Given the description of an element on the screen output the (x, y) to click on. 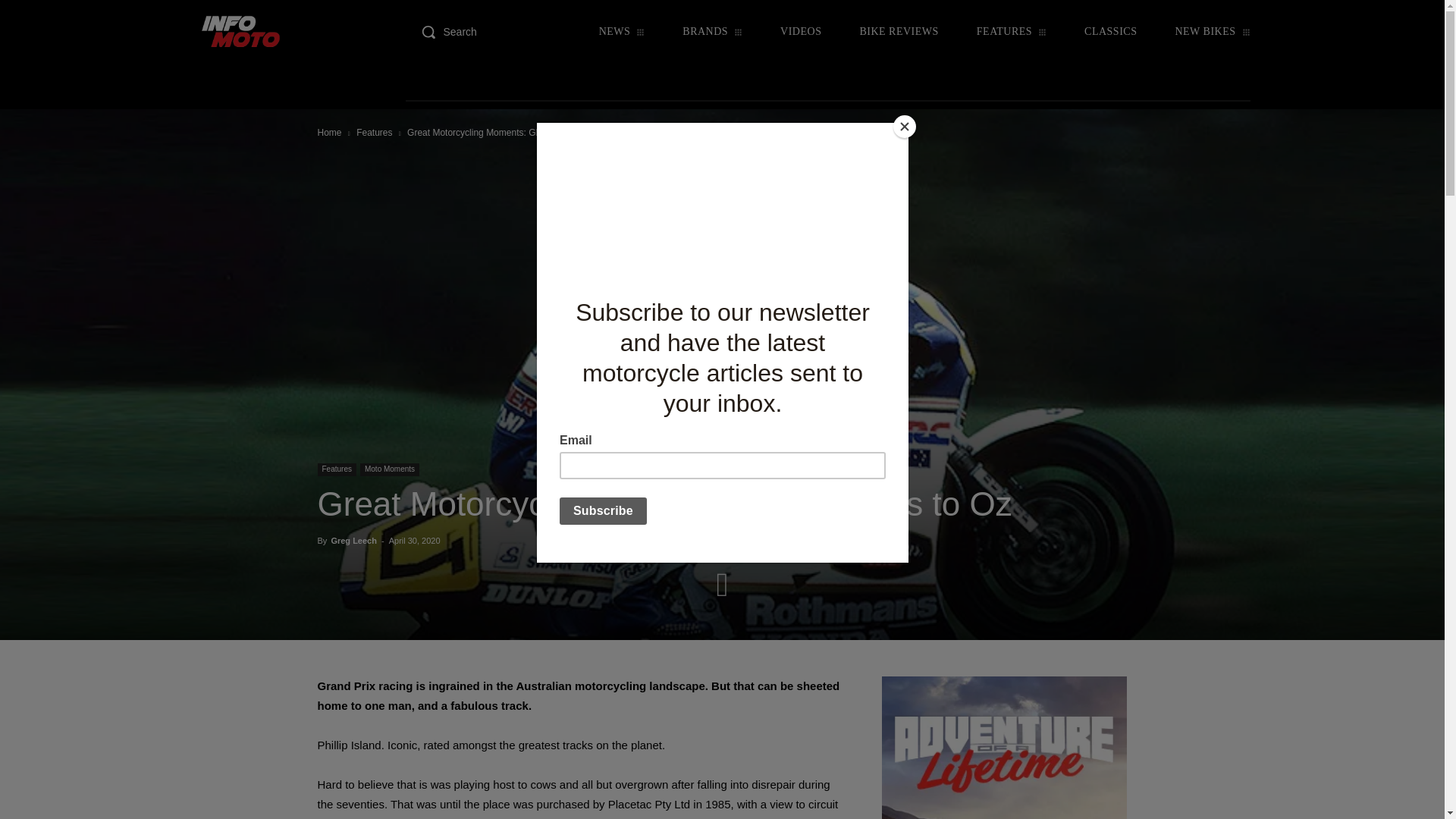
View all posts in Features (373, 132)
